Given the description of an element on the screen output the (x, y) to click on. 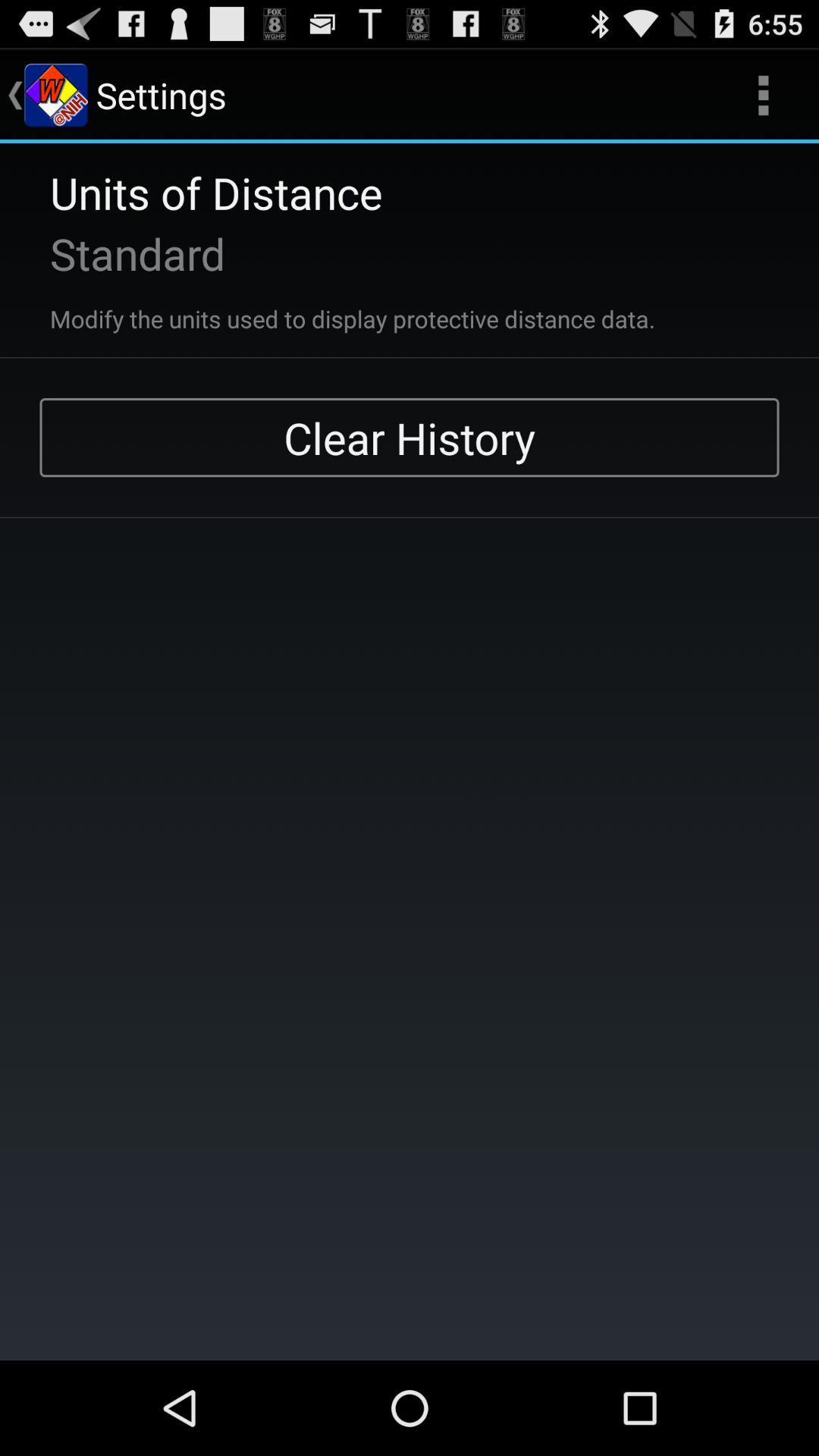
click item next to settings icon (763, 95)
